Given the description of an element on the screen output the (x, y) to click on. 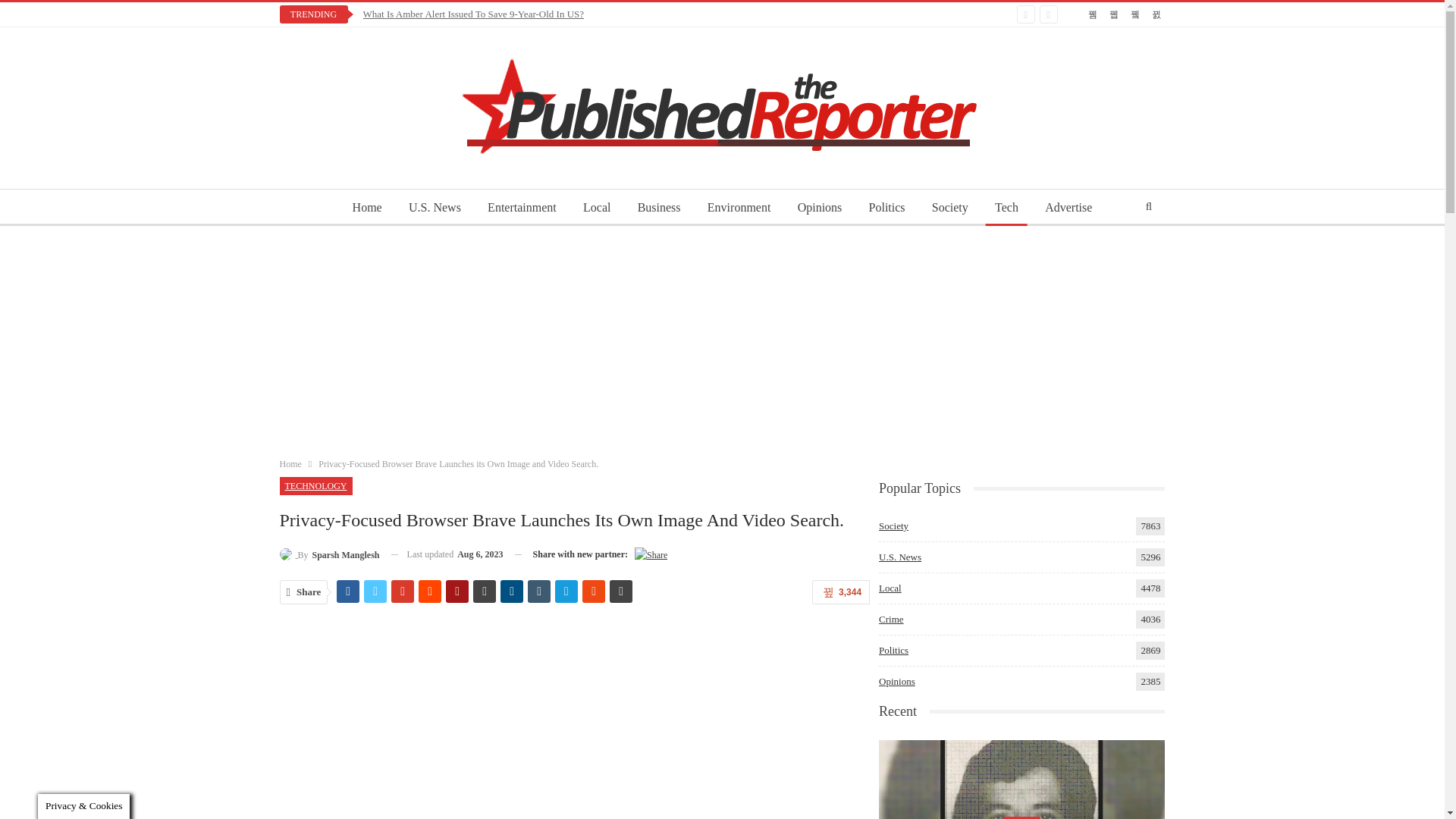
What Is Amber Alert Issued To Save 9-Year-Old In US? (472, 13)
Advertise (1067, 207)
U.S. News (434, 207)
Tech (1006, 207)
Environment (739, 207)
Advertisement (574, 721)
Browse Author Articles (328, 554)
Business (659, 207)
Society (949, 207)
Local (596, 207)
Opinions (820, 207)
Entertainment (522, 207)
Home (367, 207)
Politics (887, 207)
